Given the description of an element on the screen output the (x, y) to click on. 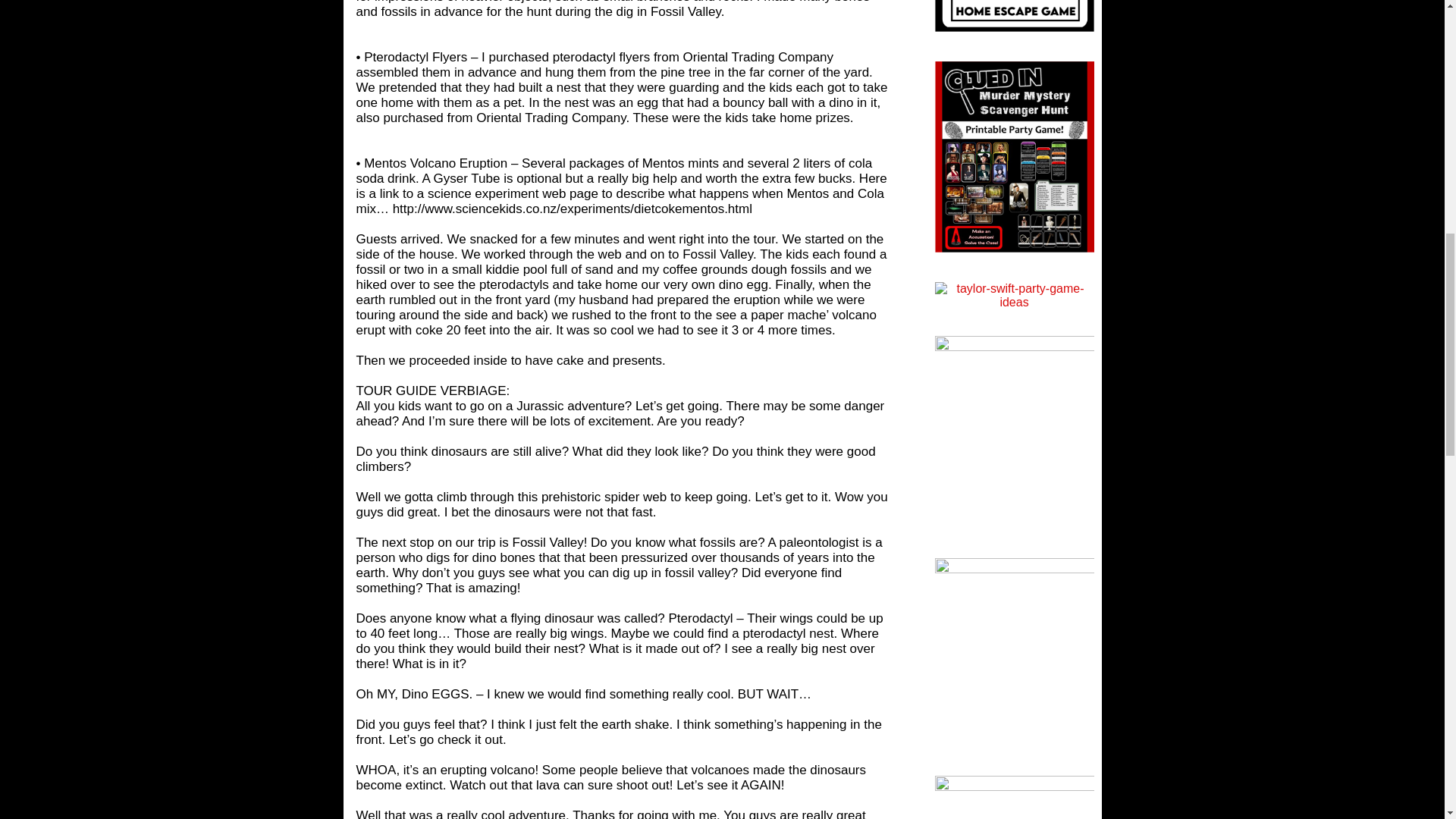
Go to Ciphers, Puzzles, and Codes Treasure Hunt (1013, 568)
taylor-swift-party-game-ideas (1013, 295)
Go to DIY Murder Mystery Escape Room - Step by Step Guide (1013, 34)
